Given the description of an element on the screen output the (x, y) to click on. 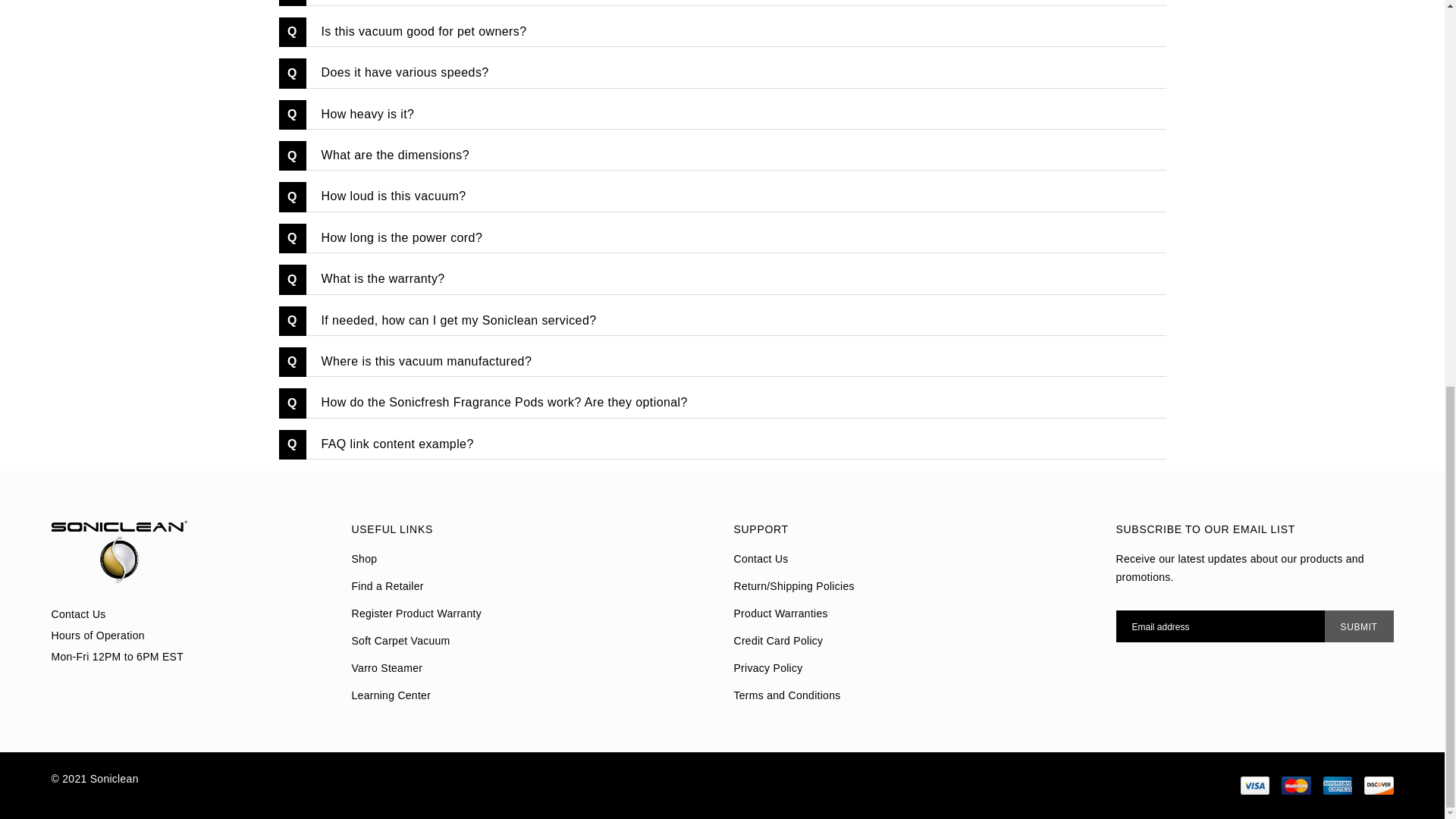
Contact Us (761, 558)
Varro Steamer (387, 667)
What is the warranty? (735, 279)
Does it have various speeds? (735, 72)
Submit (1358, 626)
Soft Carpet Vacuum (400, 640)
What are the dimensions? (735, 155)
How heavy is it? (735, 114)
How loud is this vacuum? (735, 196)
Is this vacuum good for pet owners? (735, 31)
Product Warranties (780, 613)
Credit Card Policy (778, 640)
How long is the power cord? (735, 238)
Find a Retailer (387, 585)
Learning Center (391, 695)
